Given the description of an element on the screen output the (x, y) to click on. 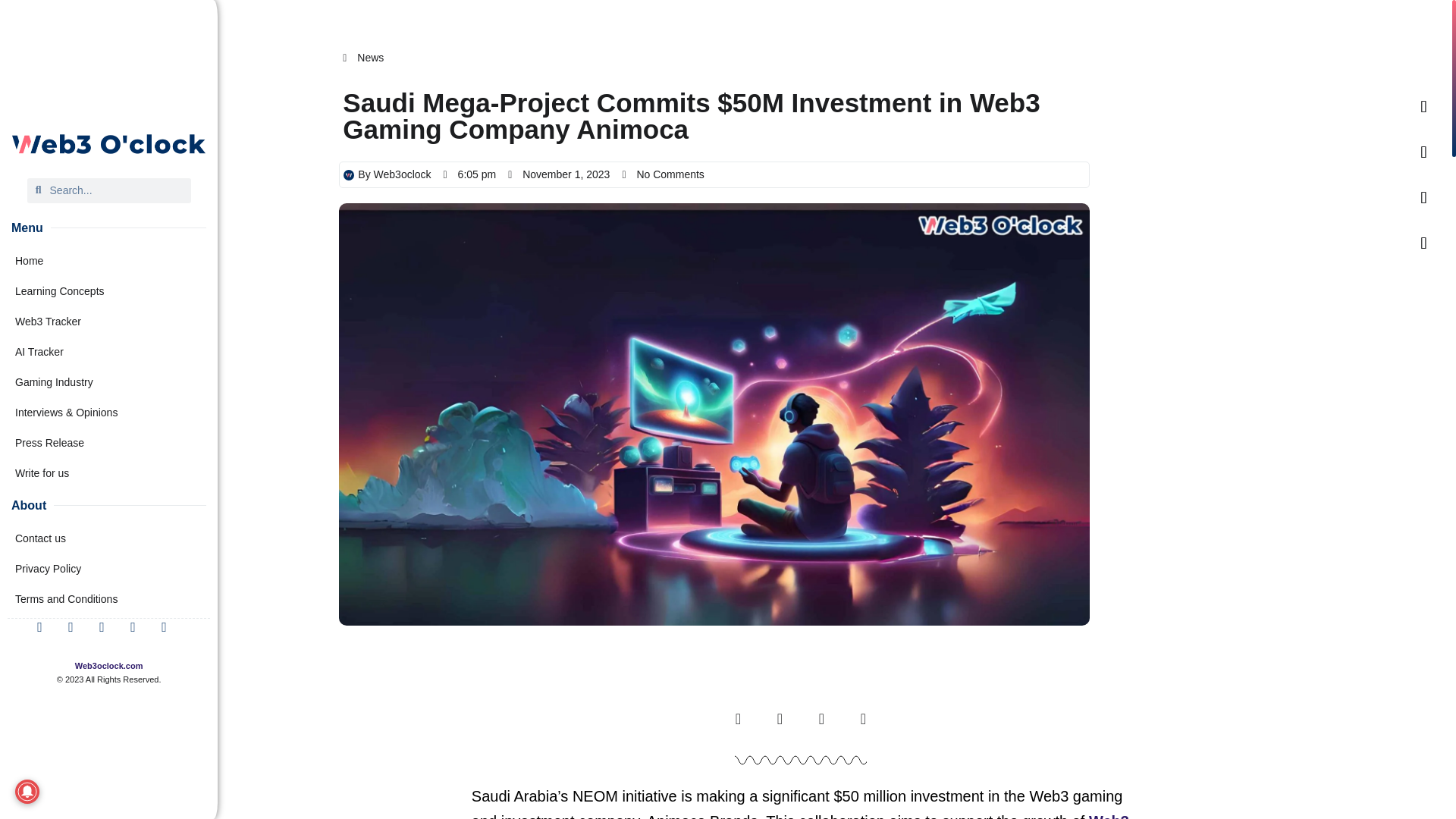
News (370, 57)
Learning Concepts (108, 291)
Home (108, 260)
Terms and Conditions (108, 598)
Write for us (108, 472)
Web3 Tracker (108, 321)
AI Tracker (108, 351)
Skip to content (15, 7)
Press Release (108, 442)
By Web3oclock (386, 174)
